Given the description of an element on the screen output the (x, y) to click on. 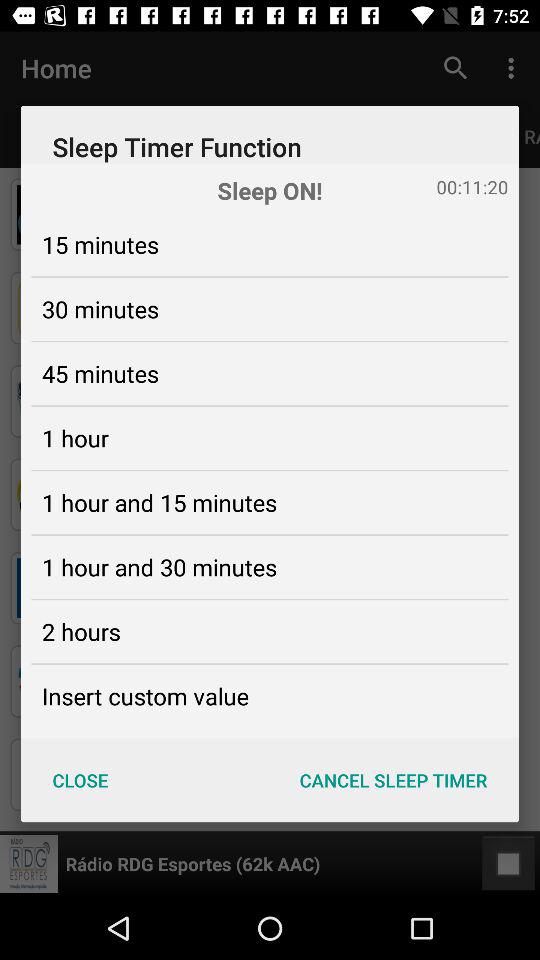
click 2 hours item (81, 631)
